Given the description of an element on the screen output the (x, y) to click on. 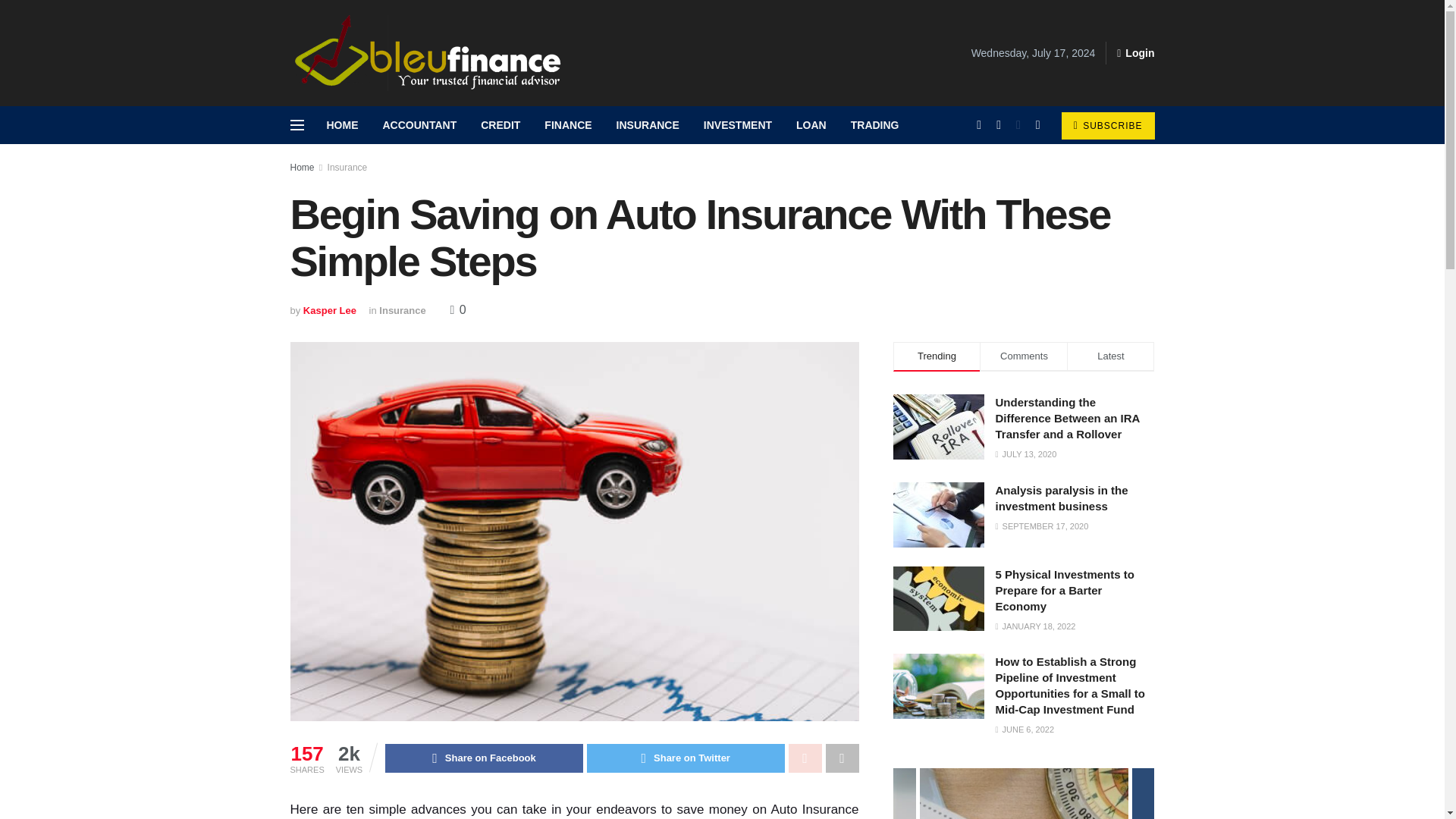
CREDIT (500, 125)
INSURANCE (647, 125)
TRADING (874, 125)
0 (457, 309)
ACCOUNTANT (418, 125)
Share on Twitter (685, 758)
FINANCE (568, 125)
LOAN (811, 125)
Insurance (401, 310)
SUBSCRIBE (1107, 125)
Home (301, 167)
HOME (341, 125)
Kasper Lee (329, 310)
Login (1135, 53)
Insurance (347, 167)
